Given the description of an element on the screen output the (x, y) to click on. 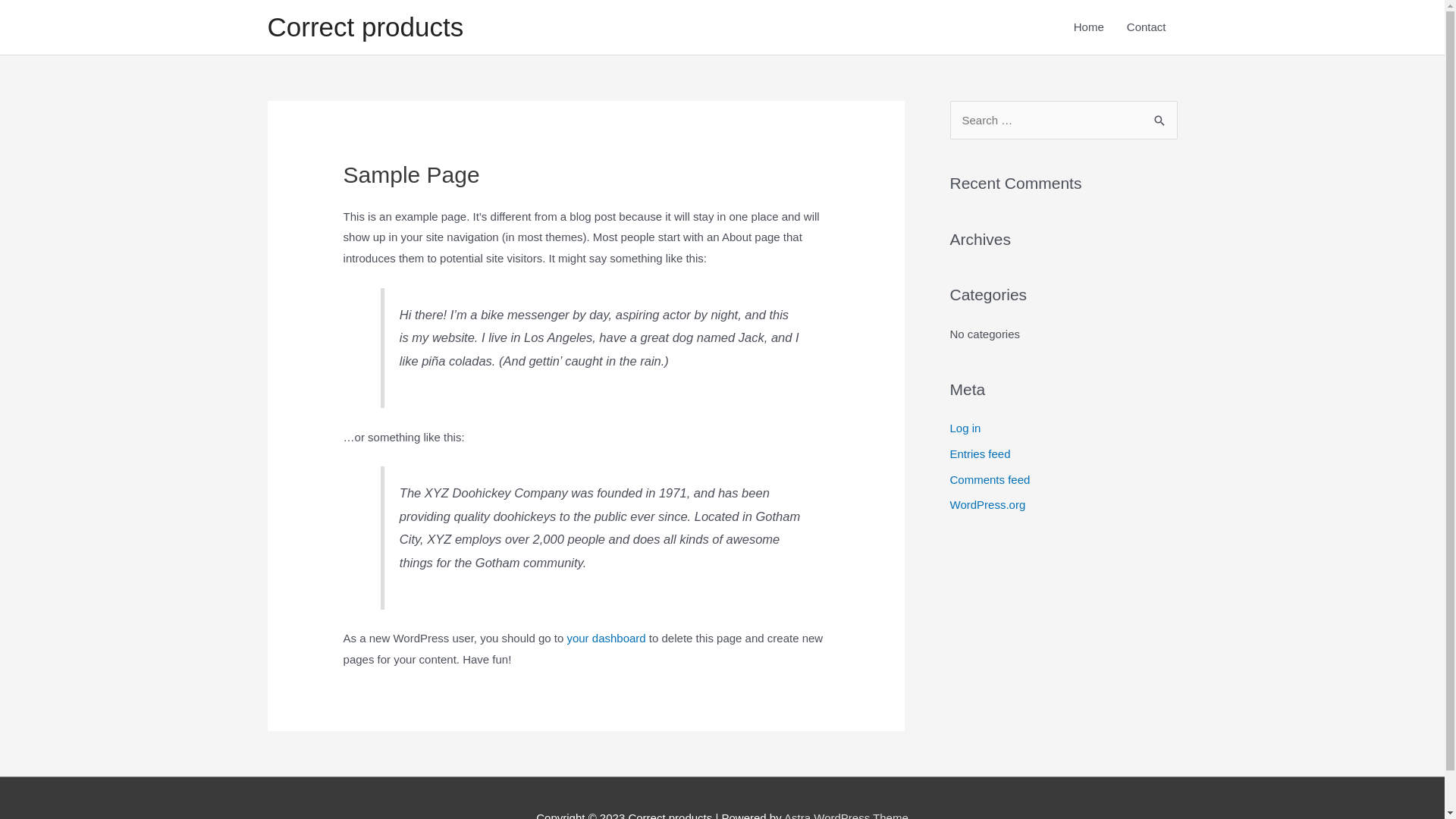
Contact Element type: text (1146, 27)
Home Element type: text (1088, 27)
Log in Element type: text (964, 427)
WordPress.org Element type: text (987, 504)
your dashboard Element type: text (605, 637)
Entries feed Element type: text (979, 453)
Comments feed Element type: text (989, 479)
Correct products Element type: text (364, 26)
Search Element type: text (1160, 115)
